Given the description of an element on the screen output the (x, y) to click on. 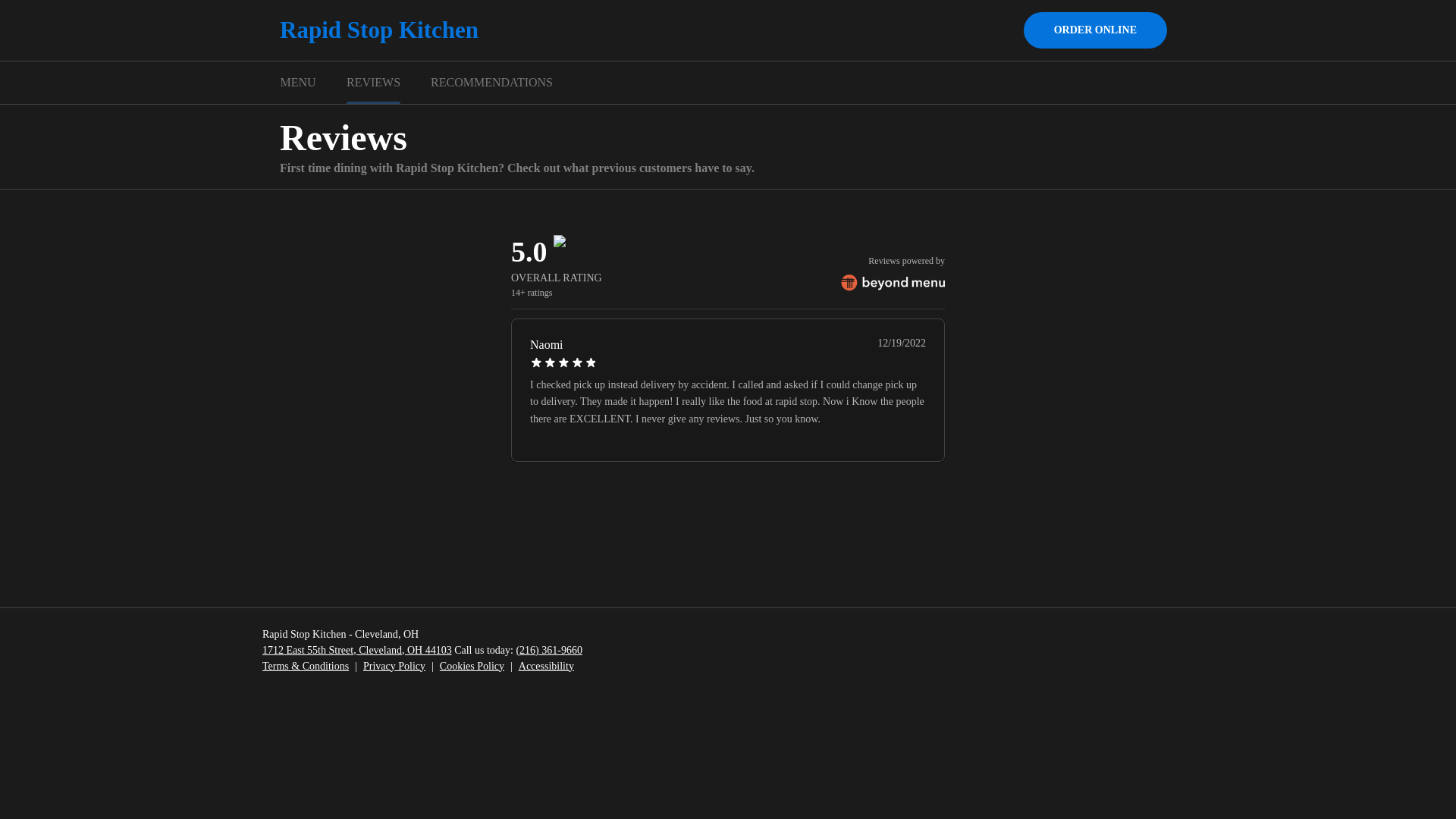
RECOMMENDATIONS (491, 82)
Accessibility (545, 666)
RECOMMENDATIONS (491, 83)
ORDER ONLINE (1095, 30)
Cookies Policy (471, 666)
Privacy Policy (393, 666)
REVIEWS (373, 83)
1712 East 55th Street, Cleveland, OH 44103 (356, 650)
Rapid Stop Kitchen (379, 29)
